Given the description of an element on the screen output the (x, y) to click on. 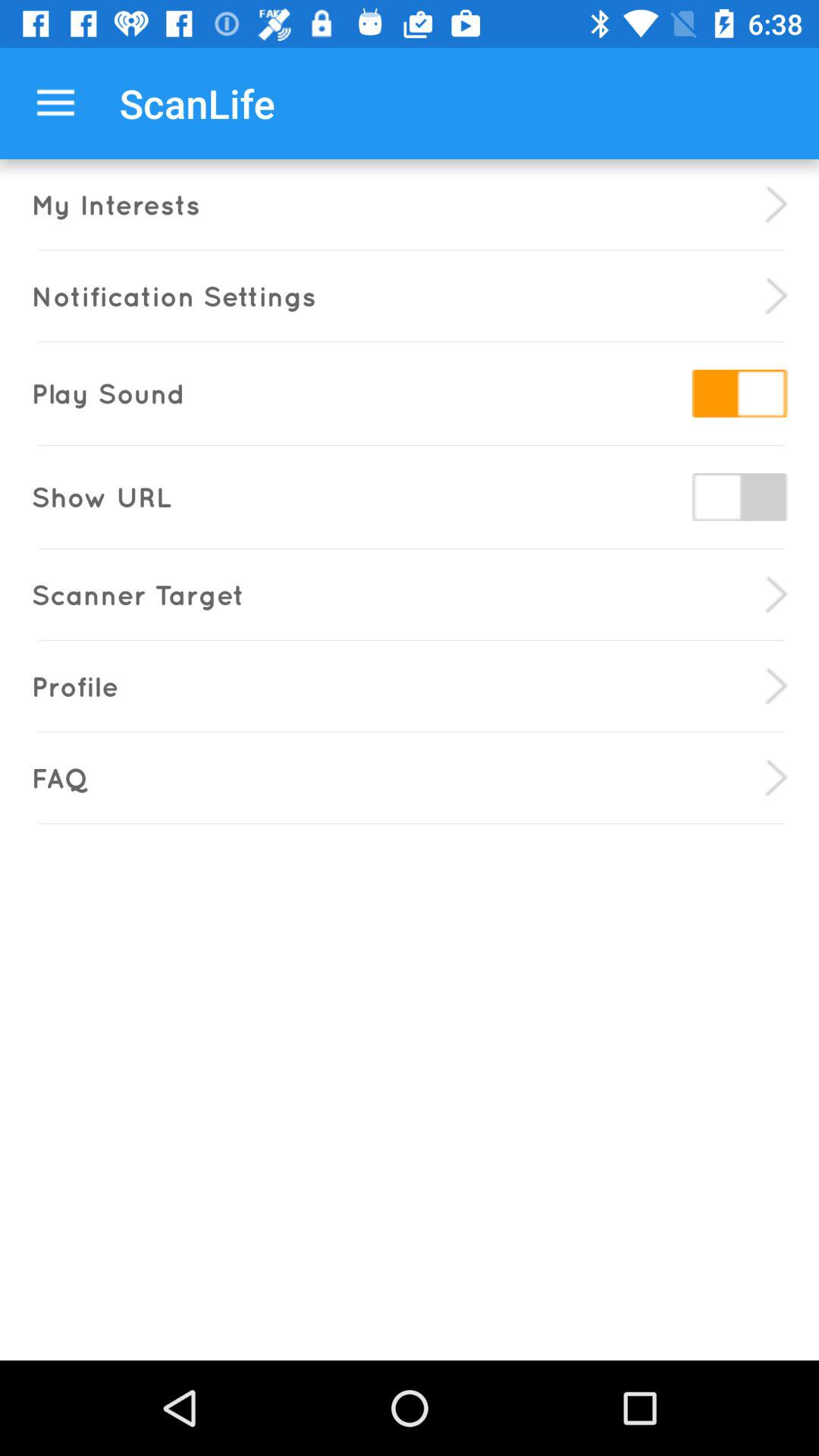
open the item to the left of the scanlife app (55, 103)
